Given the description of an element on the screen output the (x, y) to click on. 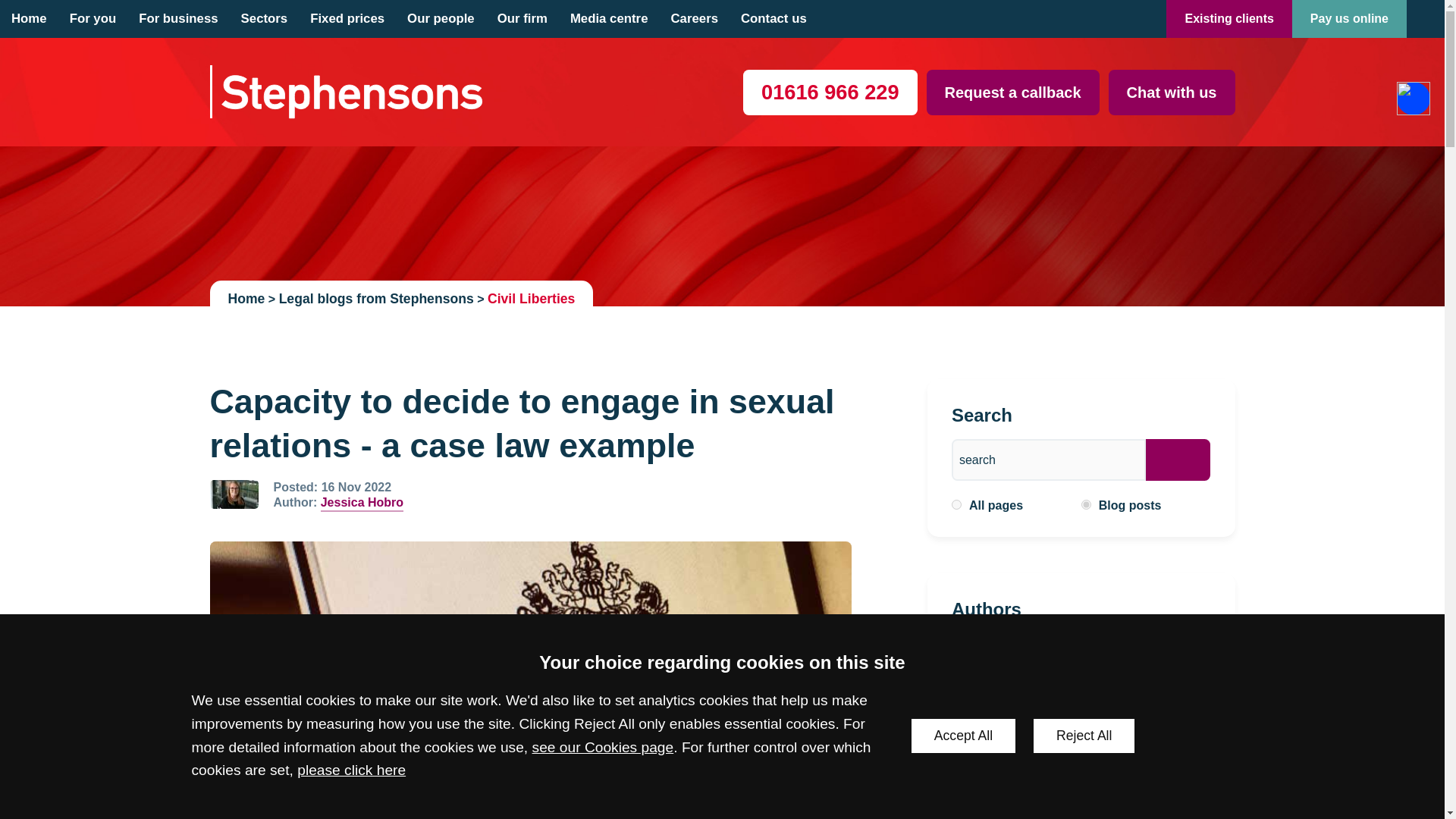
all pages (956, 504)
Existing clients (1228, 18)
View profile for Jessica Hobro (233, 493)
search (1048, 459)
Pay us online (1349, 18)
blogs (1085, 504)
For you (93, 18)
For business (178, 18)
blogs (1085, 504)
search (1048, 459)
Home (29, 18)
Accessibility Menu (1412, 98)
all pages (956, 504)
